Given the description of an element on the screen output the (x, y) to click on. 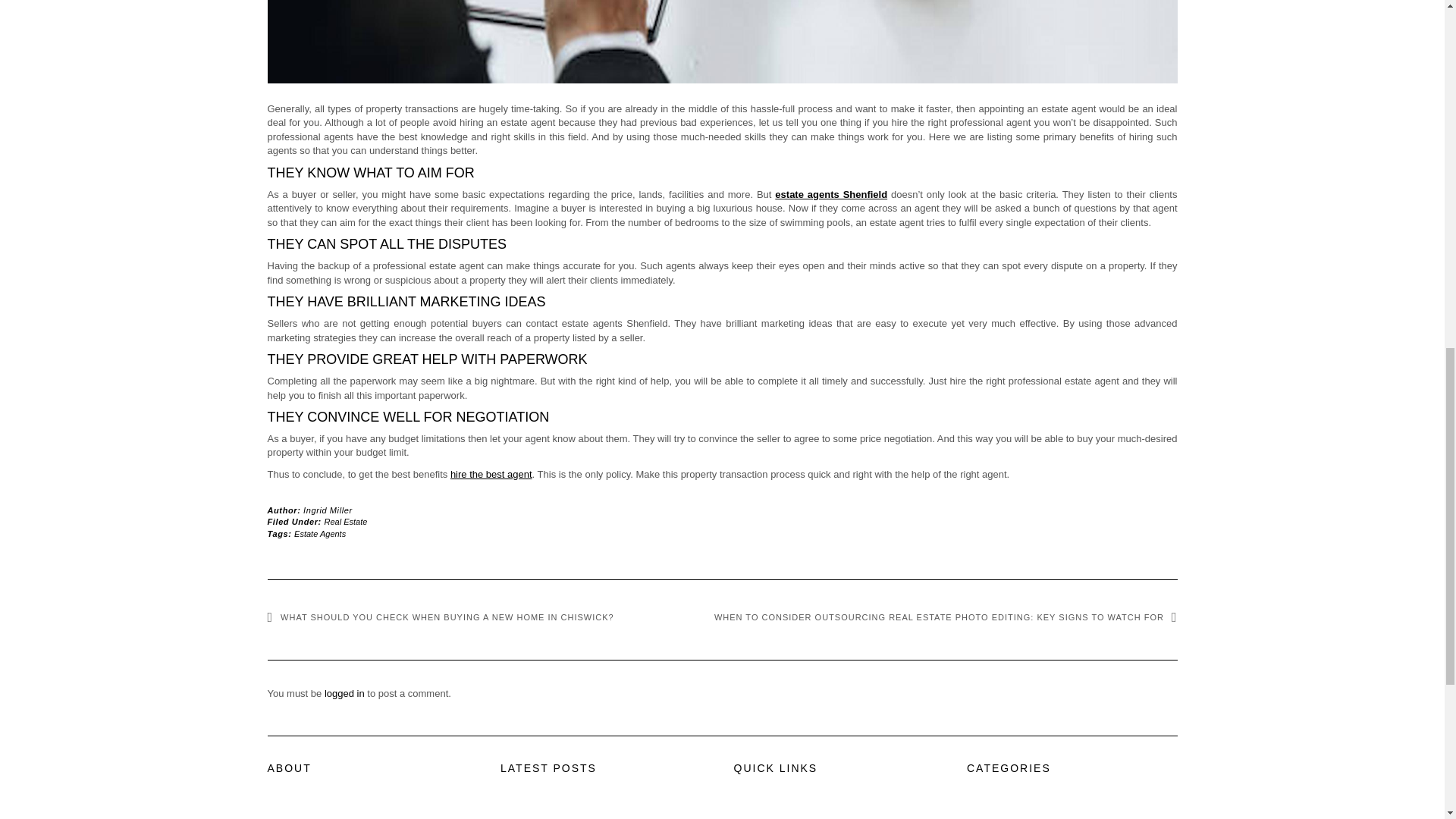
Common Myths about Hearing Loss Debunked (602, 817)
Estate Agents (320, 533)
logged in (344, 693)
WHAT SHOULD YOU CHECK WHEN BUYING A NEW HOME IN CHISWICK? (439, 616)
Real Estate (346, 521)
Ingrid Miller (327, 510)
hire the best agent (490, 473)
Home (746, 817)
estate agents Shenfield (830, 194)
Posts by Ingrid Miller (327, 510)
